Given the description of an element on the screen output the (x, y) to click on. 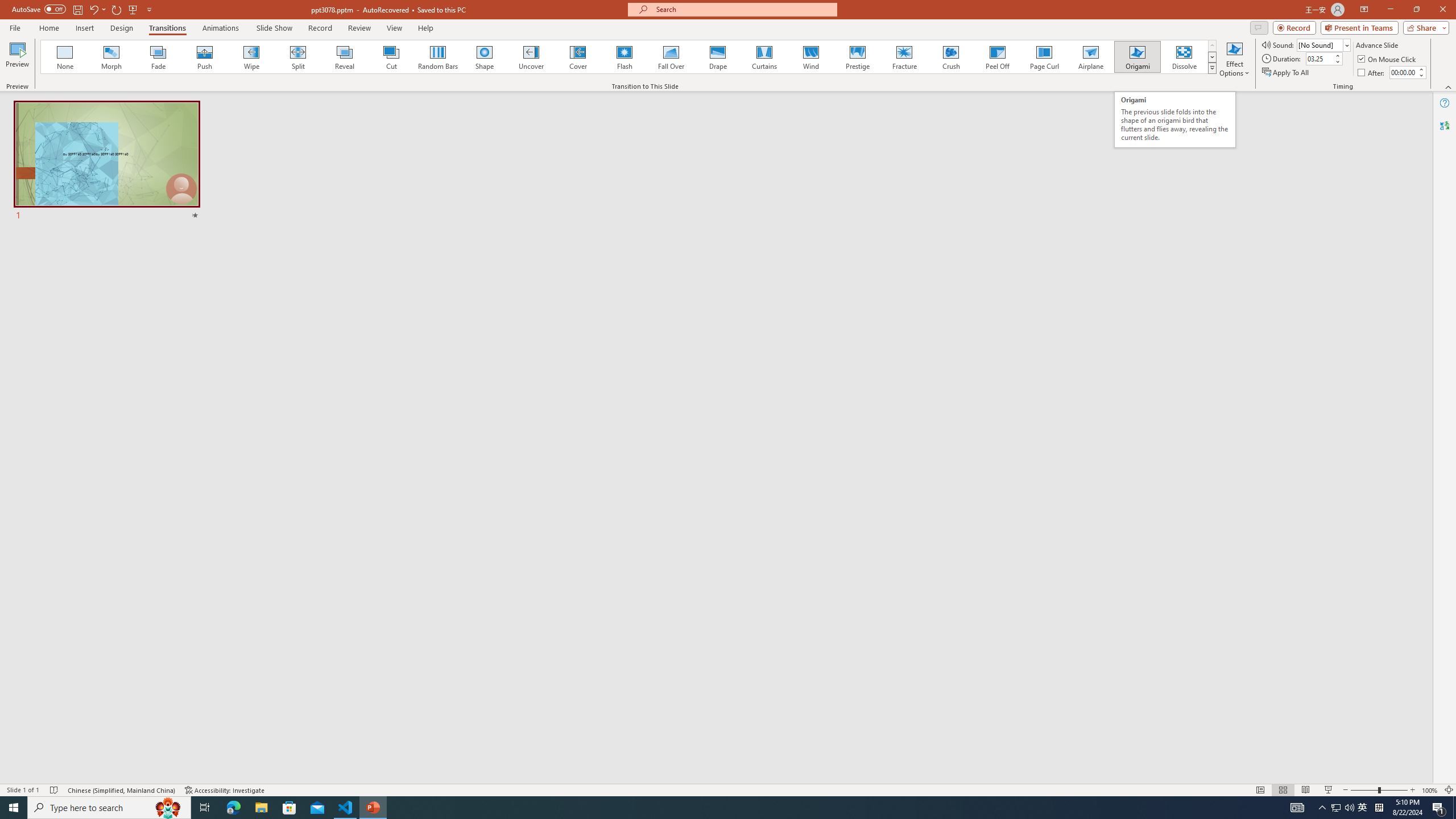
Fracture (903, 56)
Drape (717, 56)
None (65, 56)
Crush (950, 56)
Transition Effects (1212, 67)
Effect Options (1234, 58)
After (1372, 72)
